Given the description of an element on the screen output the (x, y) to click on. 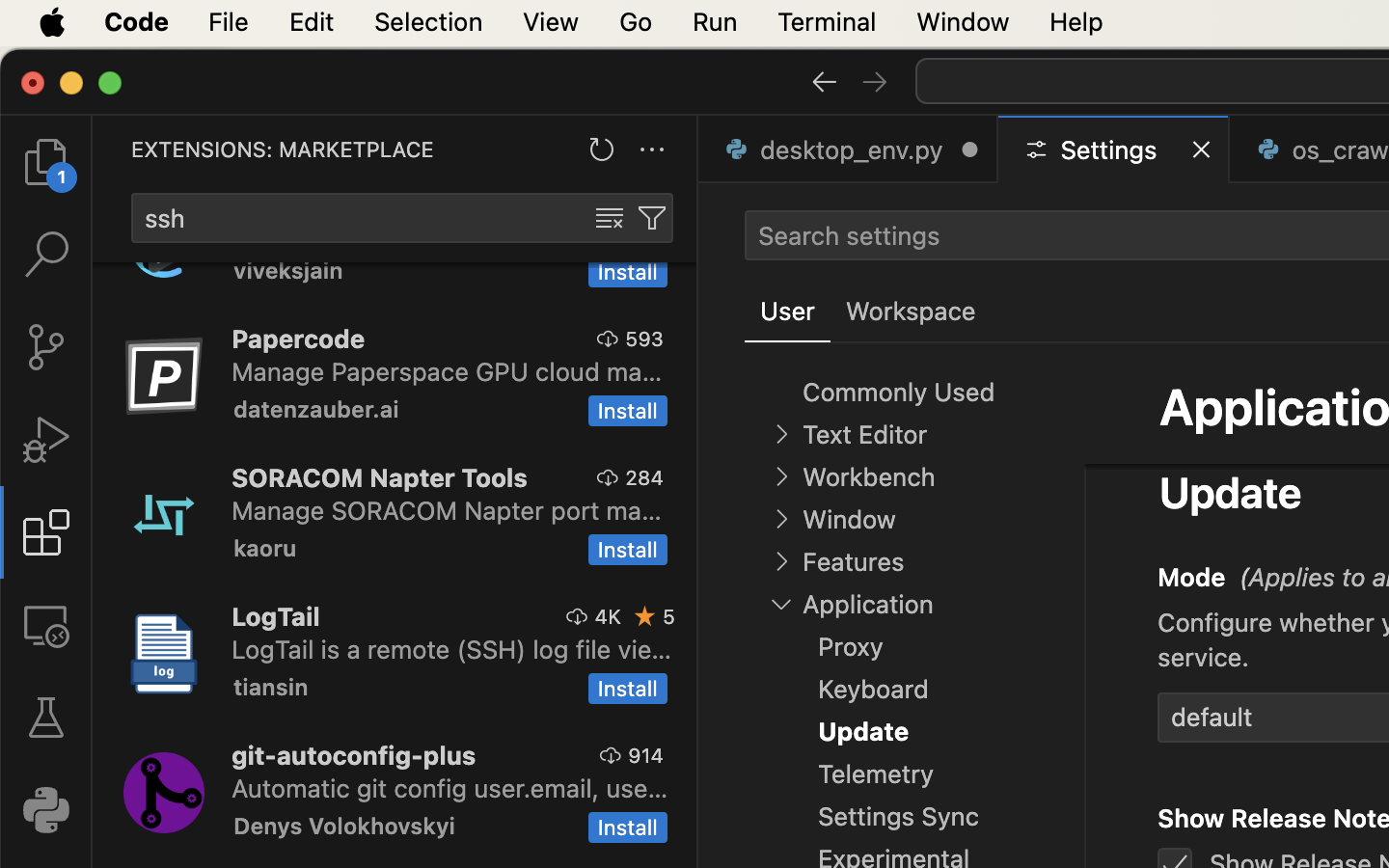
 Element type: AXGroup (46, 439)
SORACOM Napter Tools Element type: AXStaticText (379, 476)
Window Element type: AXStaticText (849, 519)
Proxy Element type: AXStaticText (850, 646)
tiansin Element type: AXStaticText (270, 686)
